Given the description of an element on the screen output the (x, y) to click on. 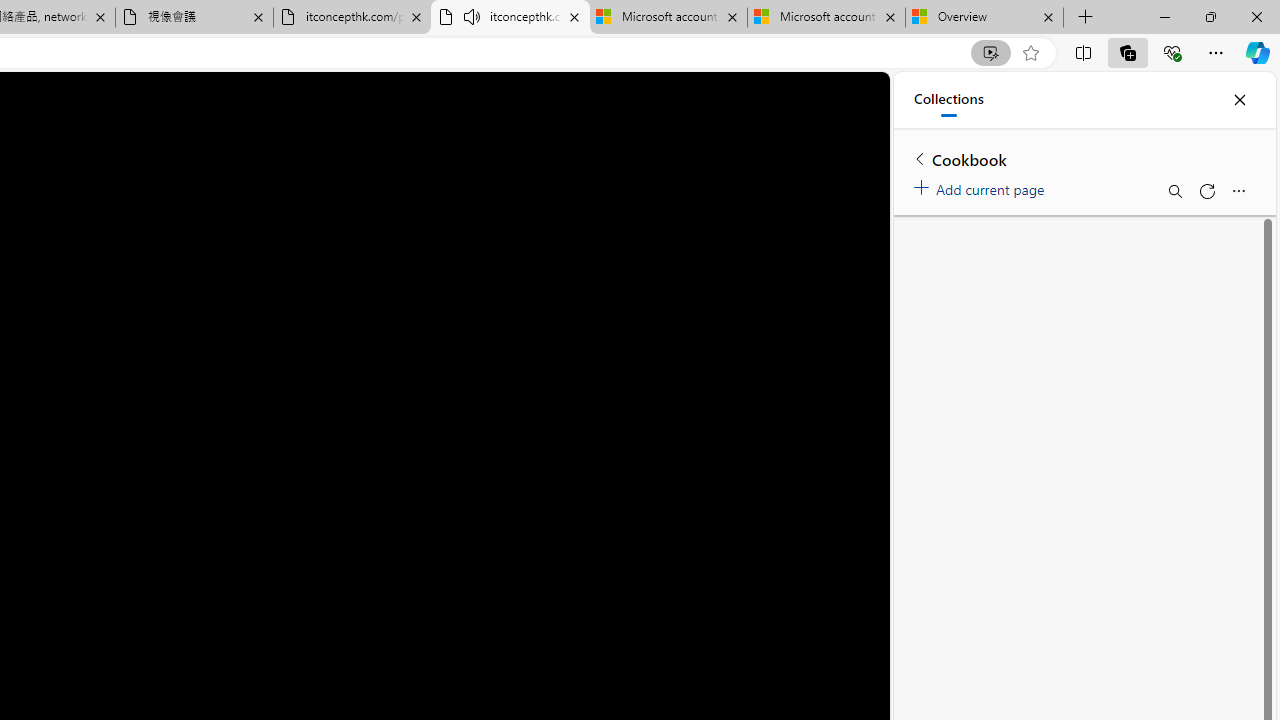
More options menu (1238, 190)
Enhance video (991, 53)
itconcepthk.com/projector_solutions.mp4 (352, 17)
Back to list of collections (920, 158)
Mute tab (471, 16)
